Given the description of an element on the screen output the (x, y) to click on. 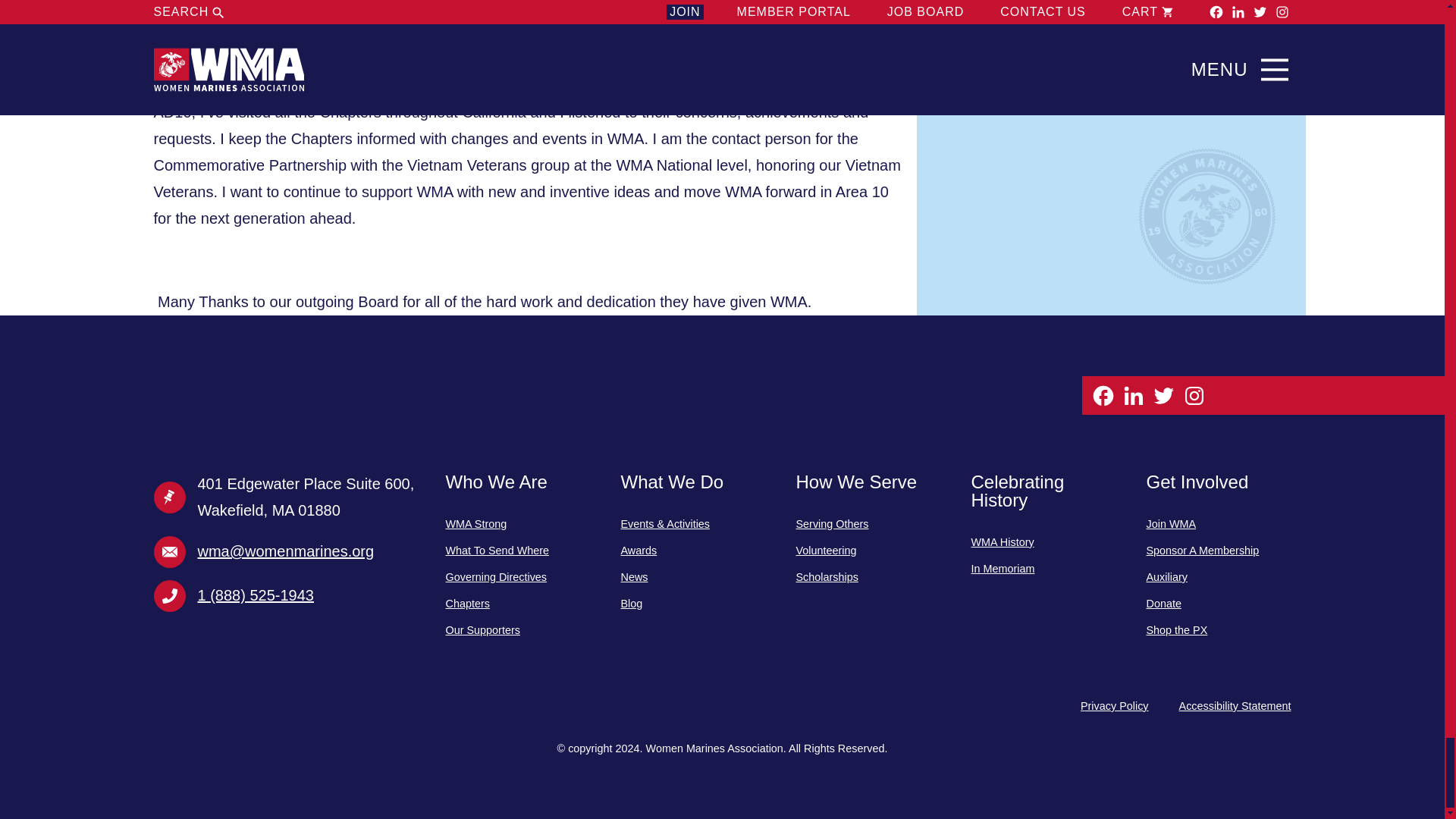
Women Marines Association (265, 422)
Instagram (1192, 394)
Linkedin (1132, 394)
Twitter (1162, 394)
Facebook (1102, 394)
